Given the description of an element on the screen output the (x, y) to click on. 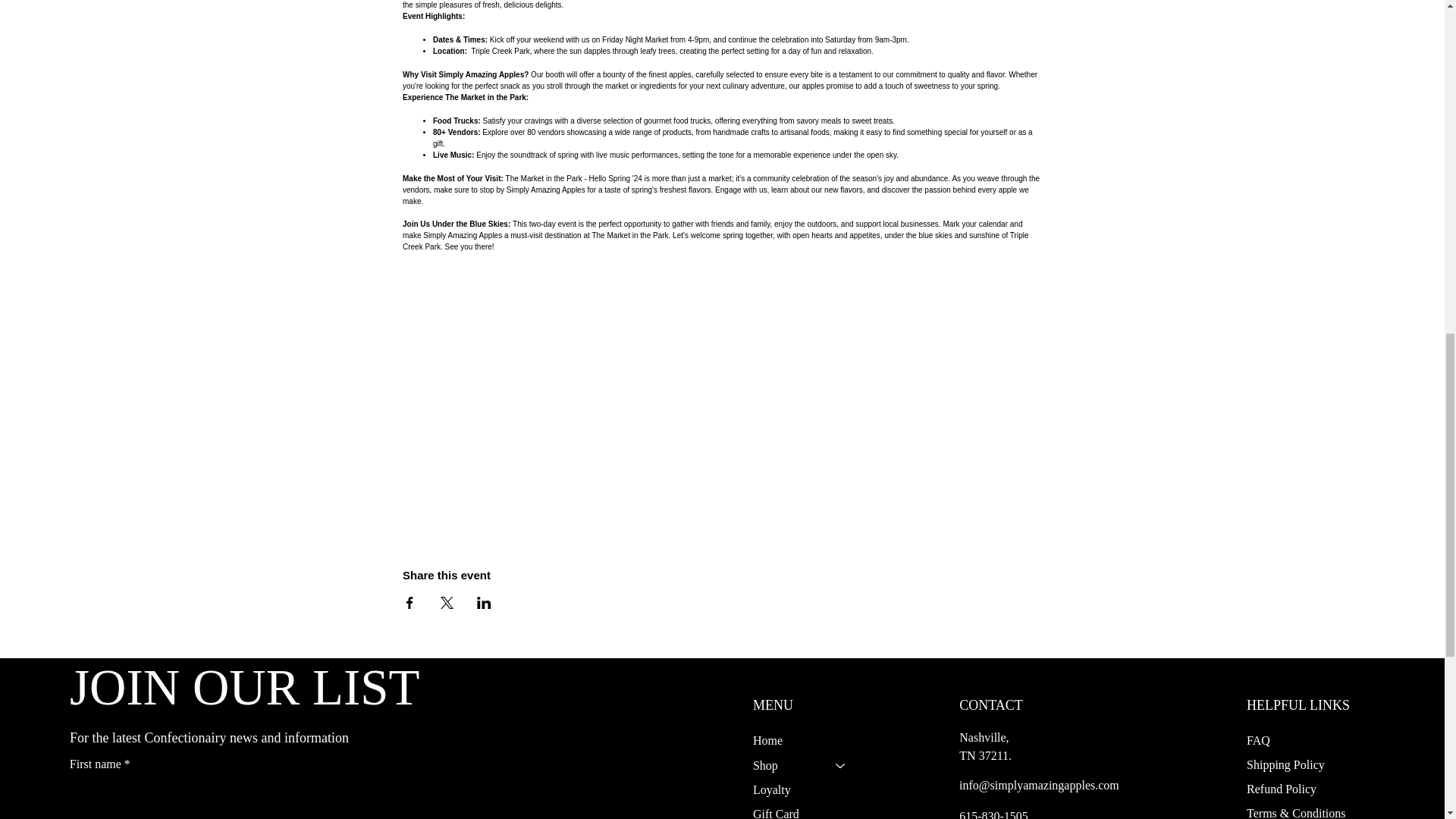
Home (806, 740)
Gift Card (806, 810)
Shipping Policy (1285, 764)
FAQ  (1259, 739)
Loyalty (806, 790)
Shop (787, 765)
